Given the description of an element on the screen output the (x, y) to click on. 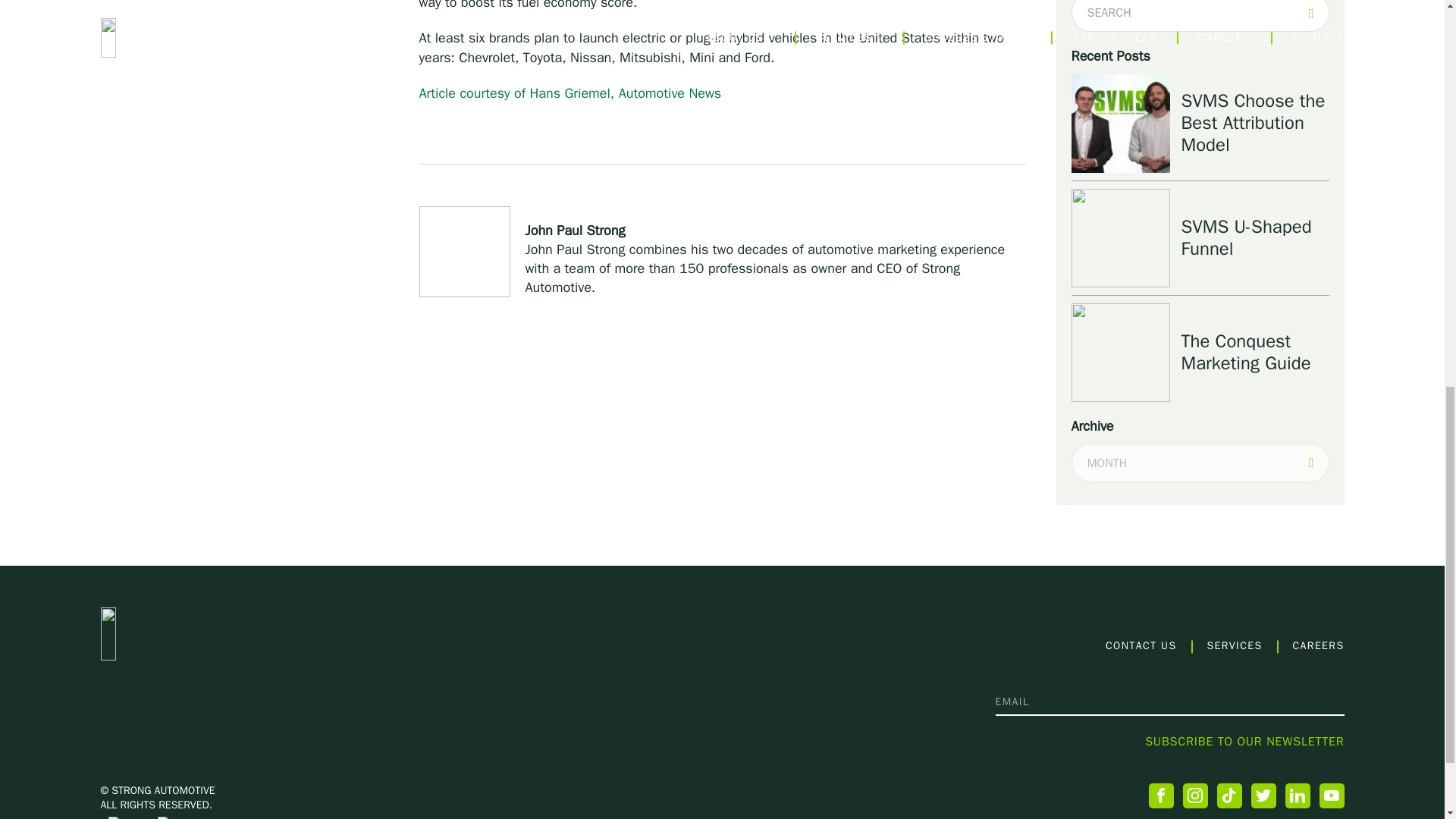
Twitter (1263, 795)
TikTok (1228, 795)
Hans Griemel, Automotive News (569, 93)
Youtube (1331, 795)
Google Premier Partner (126, 817)
Instagram (1195, 795)
Meta Partner (176, 817)
Facebook (1160, 795)
LinkedIn (1296, 795)
Strong Automotive (204, 633)
